Given the description of an element on the screen output the (x, y) to click on. 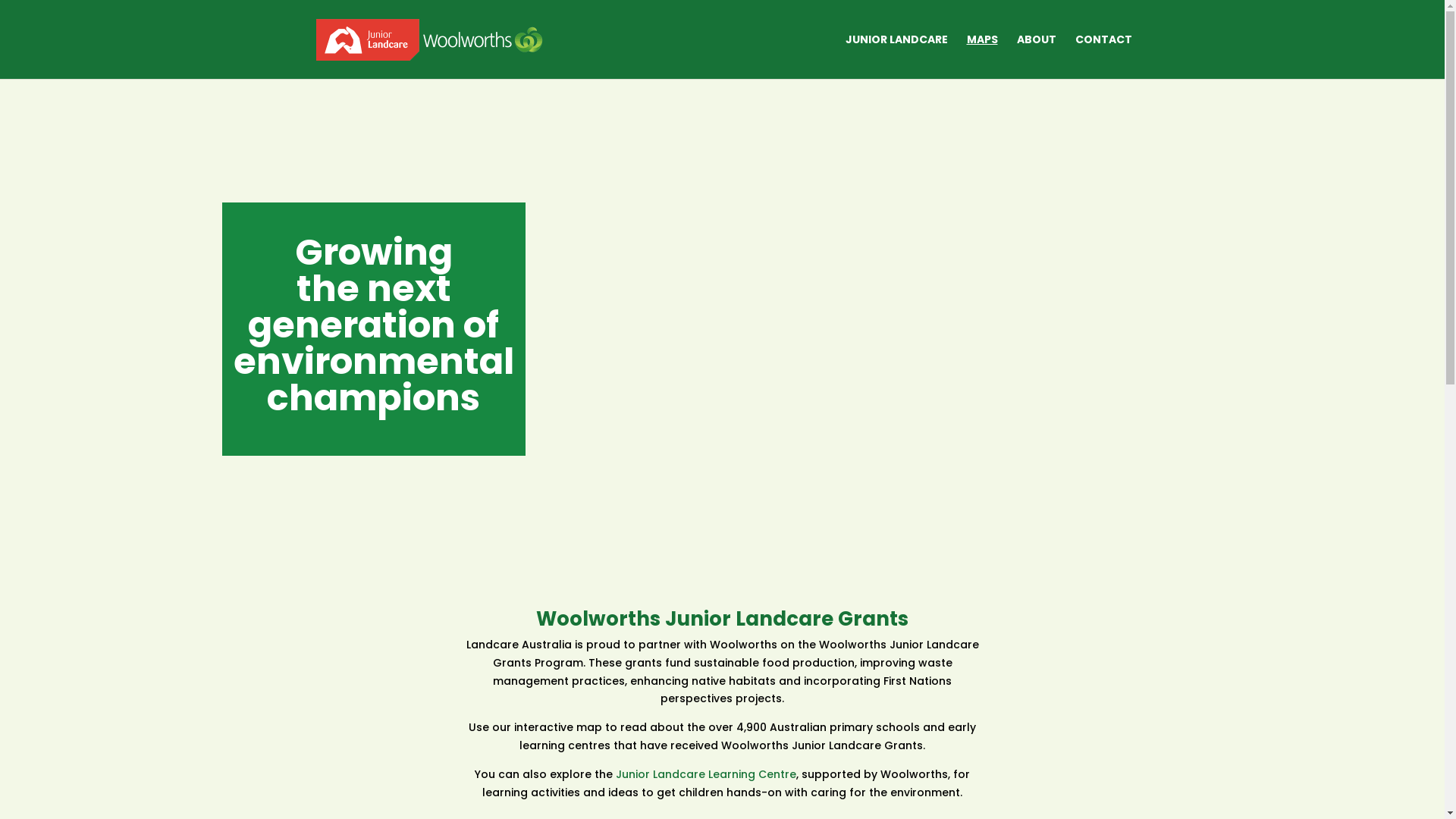
JUNIOR LANDCARE Element type: text (895, 56)
ABOUT Element type: text (1035, 56)
CONTACT Element type: text (1103, 56)
Junior Landcare Learning Centre Element type: text (705, 773)
MAPS Element type: text (981, 56)
